Given the description of an element on the screen output the (x, y) to click on. 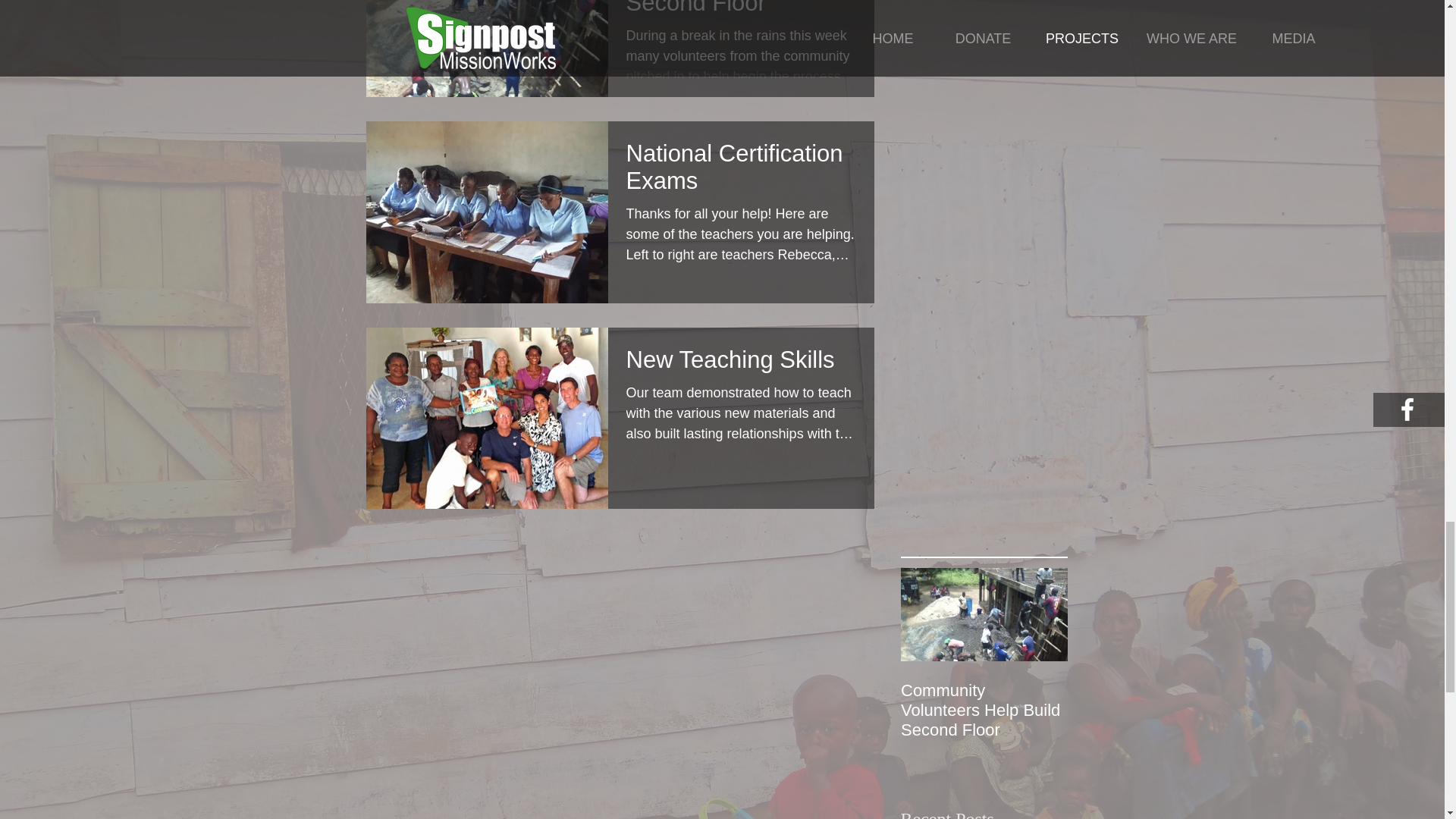
Community Volunteers Help Build Second Floor (984, 710)
New Teaching Skills (741, 364)
Community Volunteers Help Build Second Floor (741, 12)
National Certification Exams (741, 171)
